Given the description of an element on the screen output the (x, y) to click on. 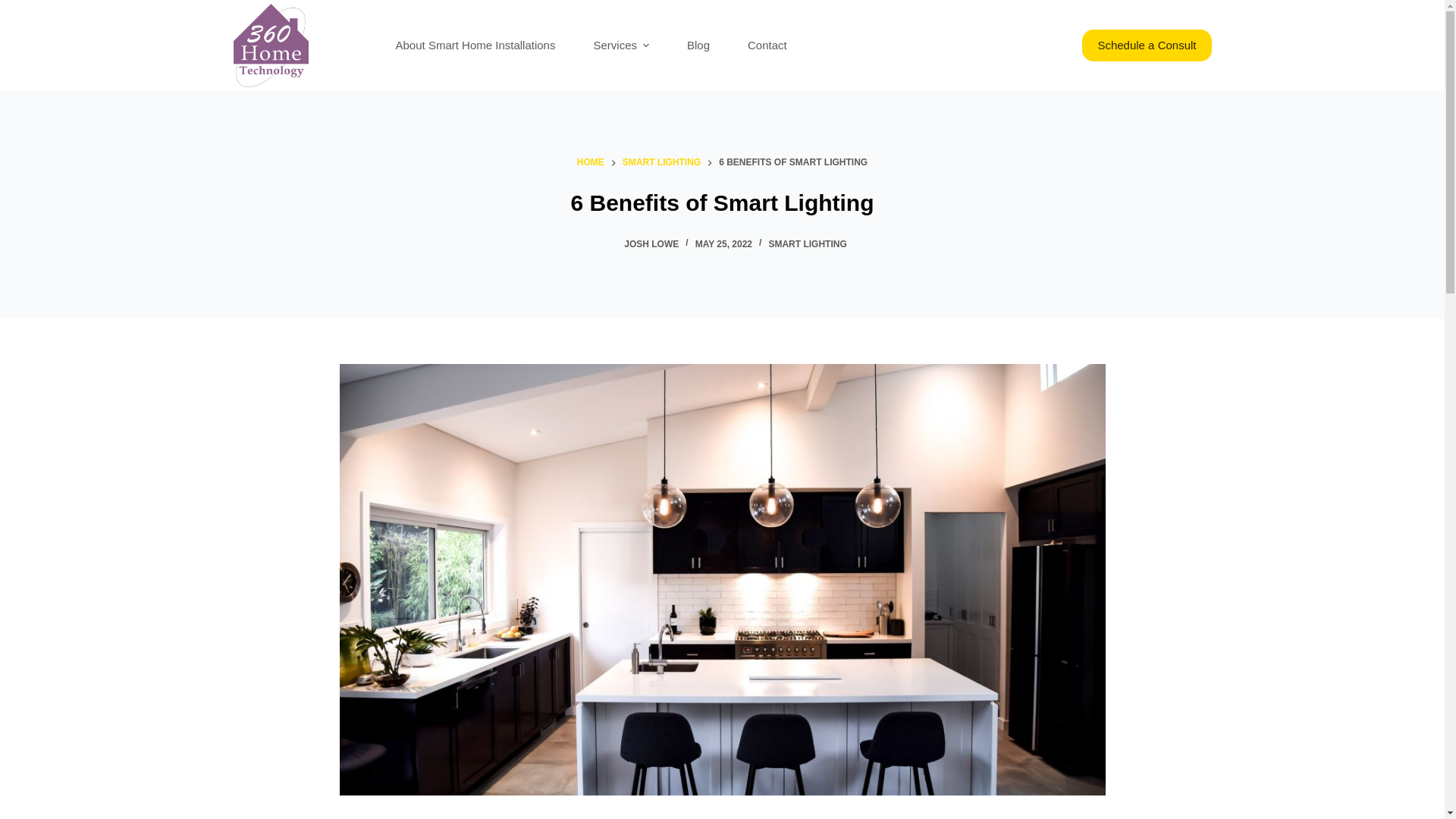
HOME Element type: text (590, 162)
Skip to content Element type: text (15, 7)
Services Element type: text (621, 45)
Schedule a Consult Element type: text (1146, 45)
Contact Element type: text (767, 45)
Blog Element type: text (698, 45)
JOSH LOWE Element type: text (651, 243)
About Smart Home Installations Element type: text (475, 45)
SMART LIGHTING Element type: text (807, 243)
SMART LIGHTING Element type: text (661, 162)
